Given the description of an element on the screen output the (x, y) to click on. 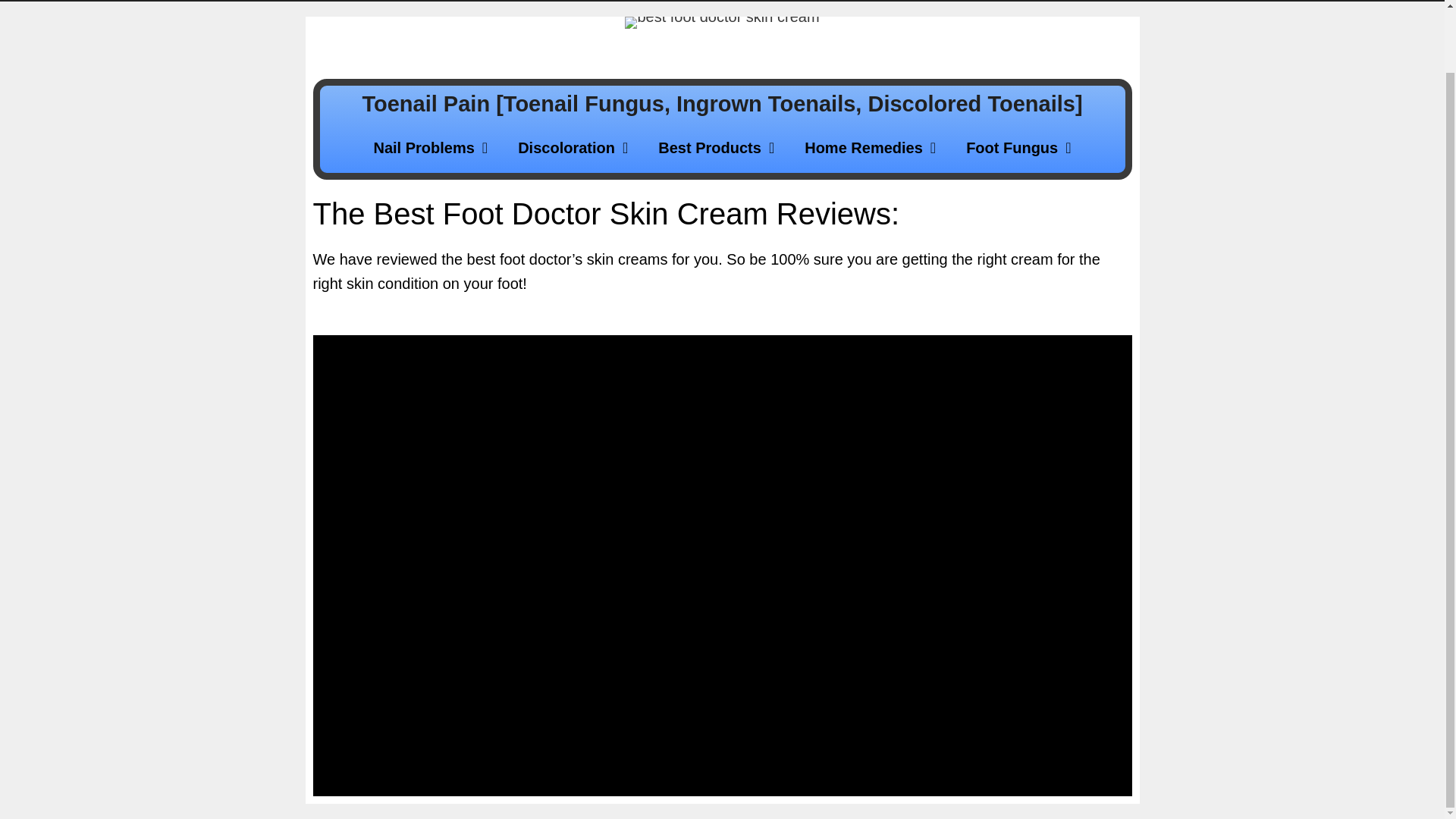
Our Team (554, 0)
Be A Patient (795, 0)
Best Foot Doctor Skin Cream 1 (721, 22)
Home (461, 0)
Locations (671, 0)
